Given the description of an element on the screen output the (x, y) to click on. 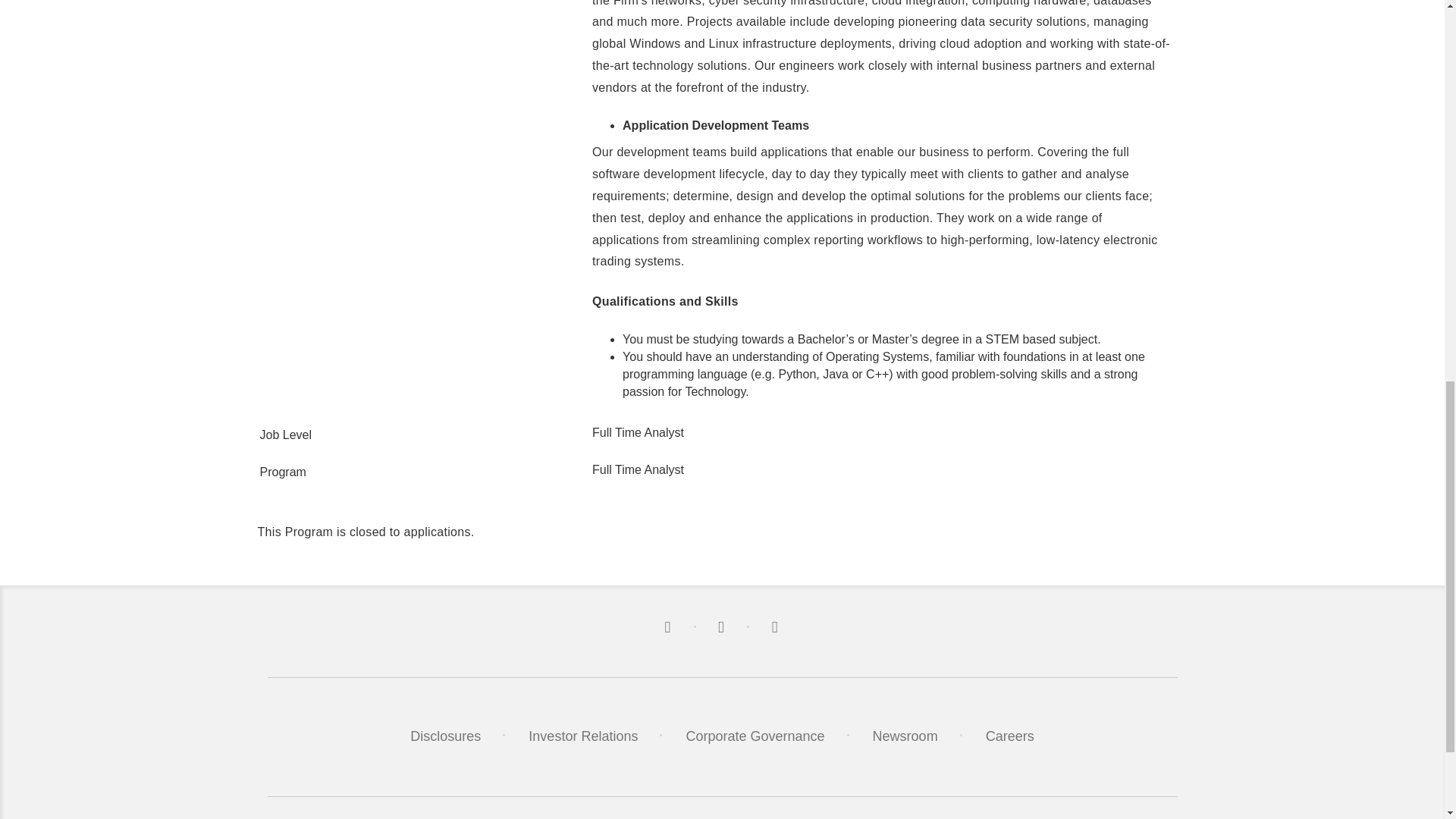
Disclosures (445, 735)
Careers (1009, 735)
Investor Relations (582, 735)
Corporate Governance (754, 735)
linkedin (723, 628)
youtube (775, 628)
Newsroom (904, 735)
twitter (669, 628)
